Given the description of an element on the screen output the (x, y) to click on. 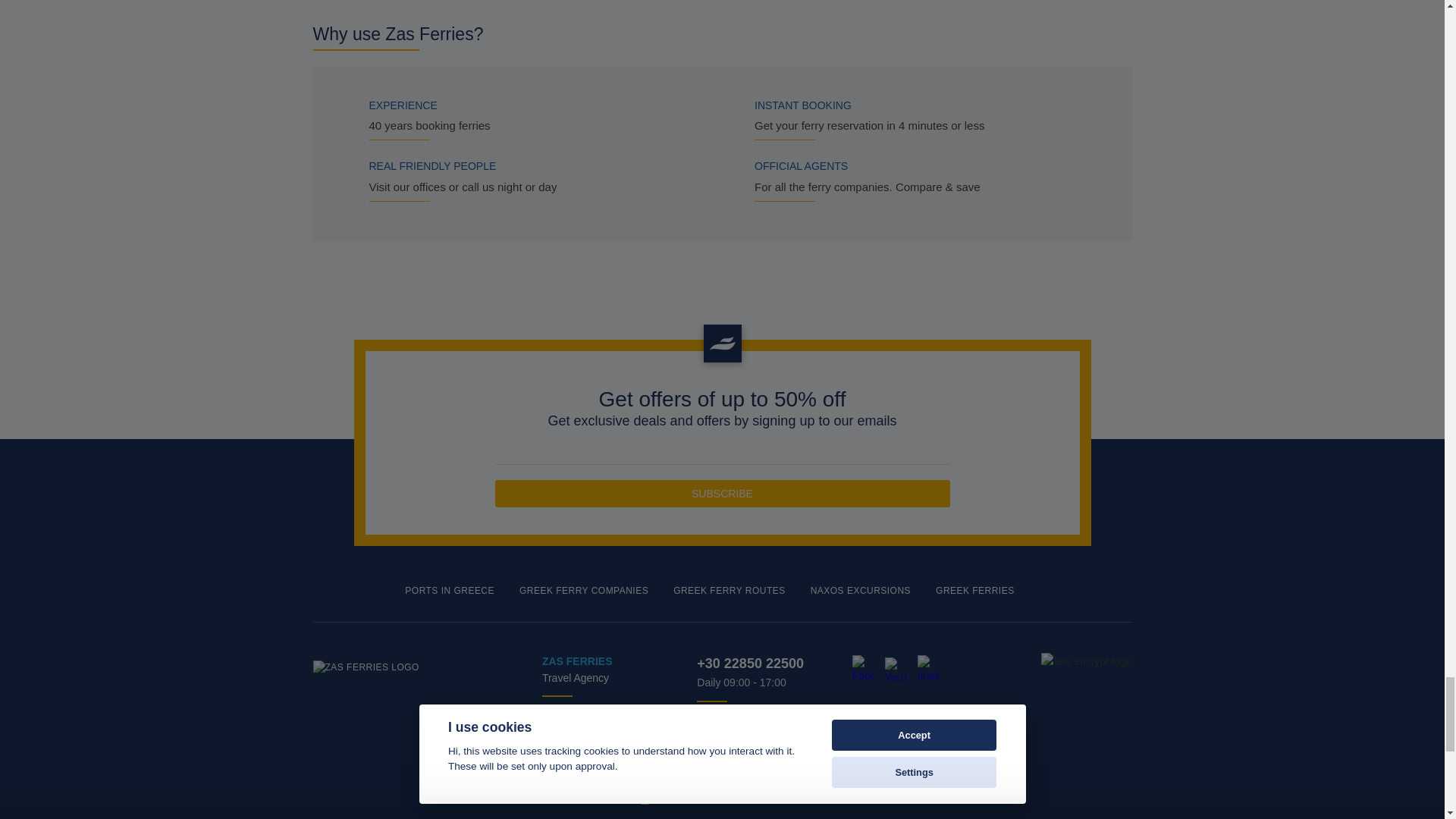
Subscribe (722, 492)
